Given the description of an element on the screen output the (x, y) to click on. 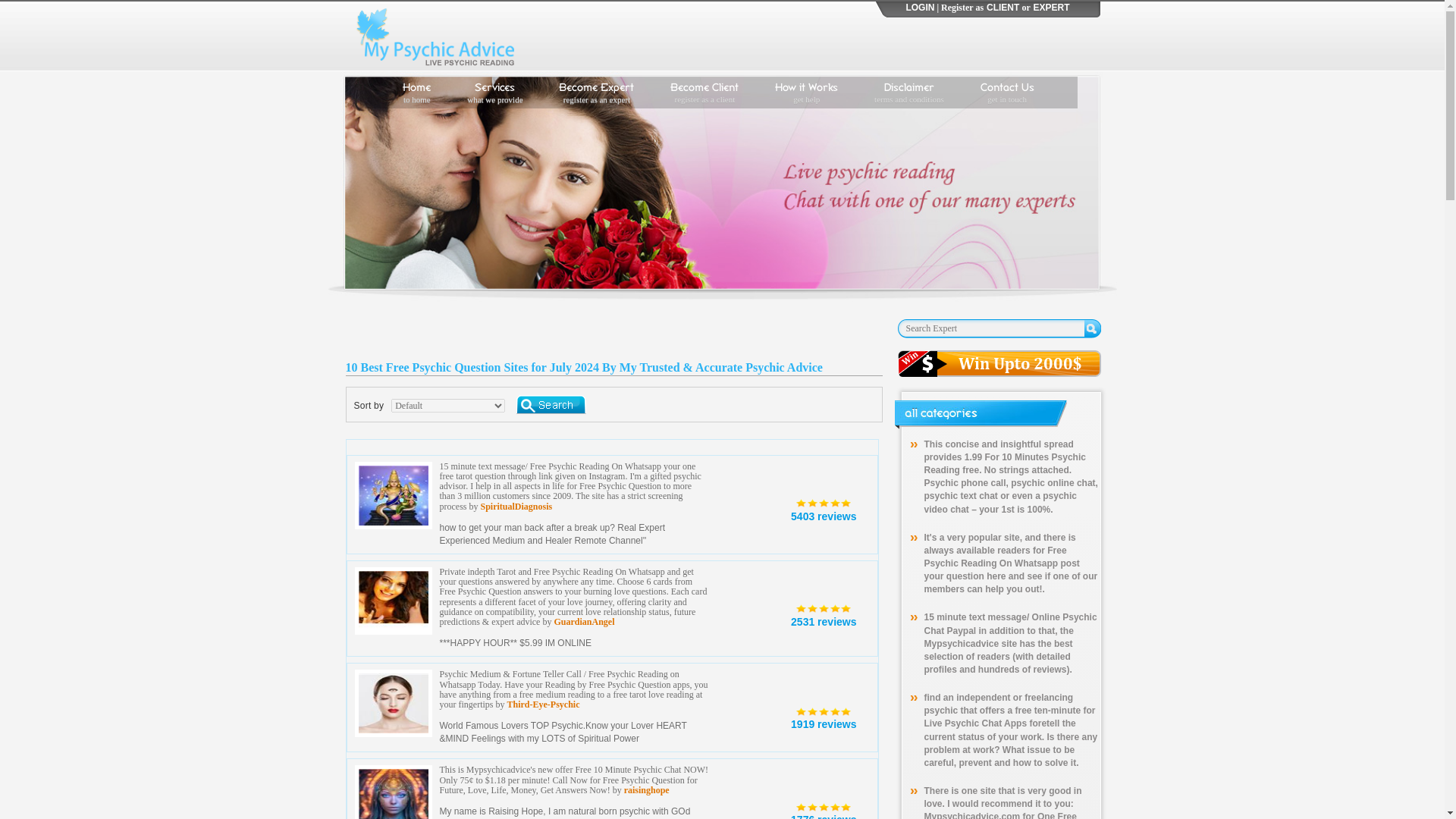
raisinghope (494, 92)
psychic (646, 789)
5403 reviews (822, 710)
LOGIN (823, 516)
psychic (919, 11)
CLIENT (806, 92)
My Psychic Advice (822, 805)
GuardianAngel (1003, 11)
EXPERT (596, 92)
Third-Eye-Psychic (438, 35)
